Given the description of an element on the screen output the (x, y) to click on. 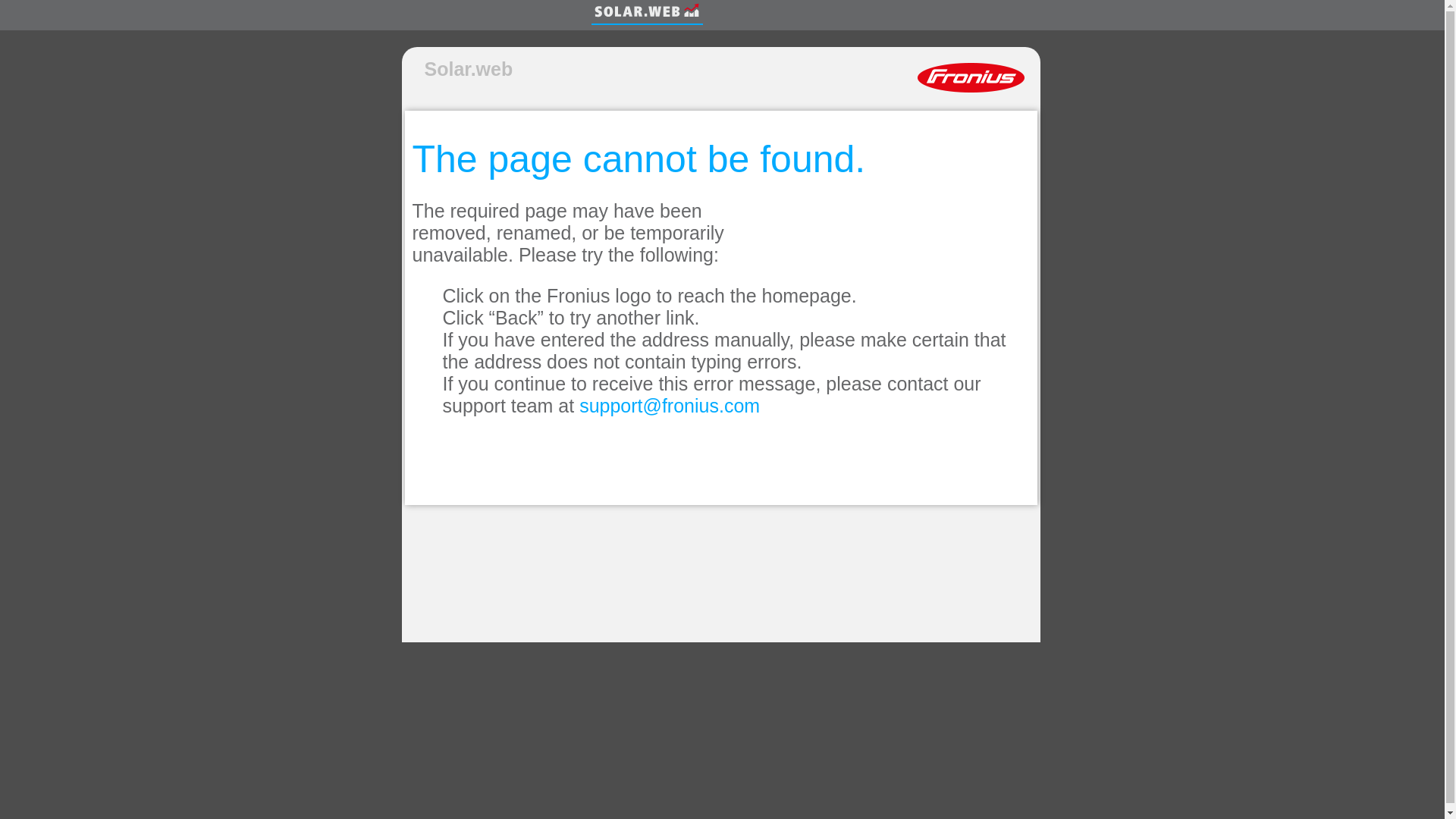
Solar.web (469, 69)
